Given the description of an element on the screen output the (x, y) to click on. 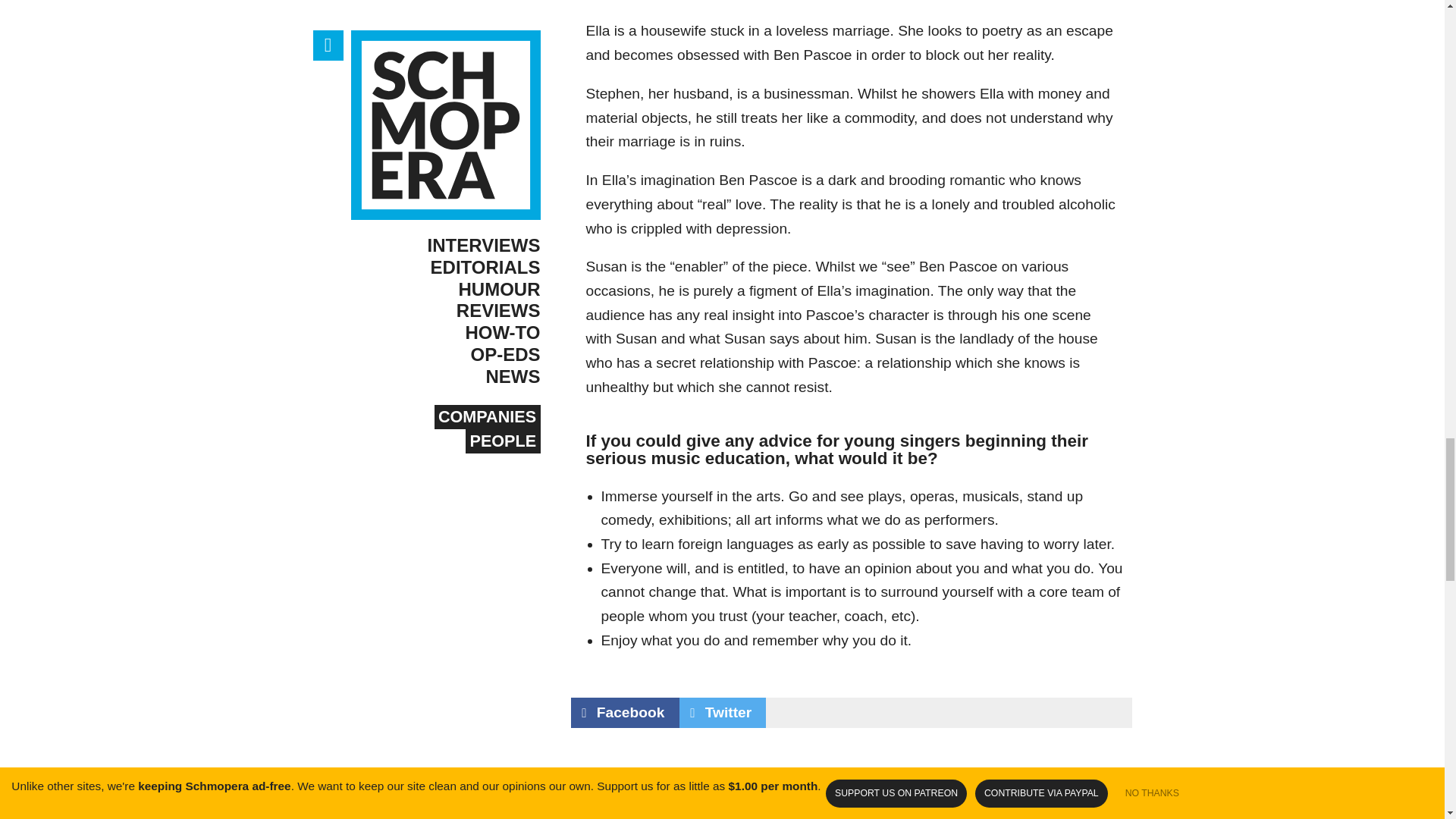
Previous (708, 796)
Facebook (624, 712)
An Insightful, Relevant Look At Divas (994, 796)
Twitter (723, 712)
Next (994, 796)
